Given the description of an element on the screen output the (x, y) to click on. 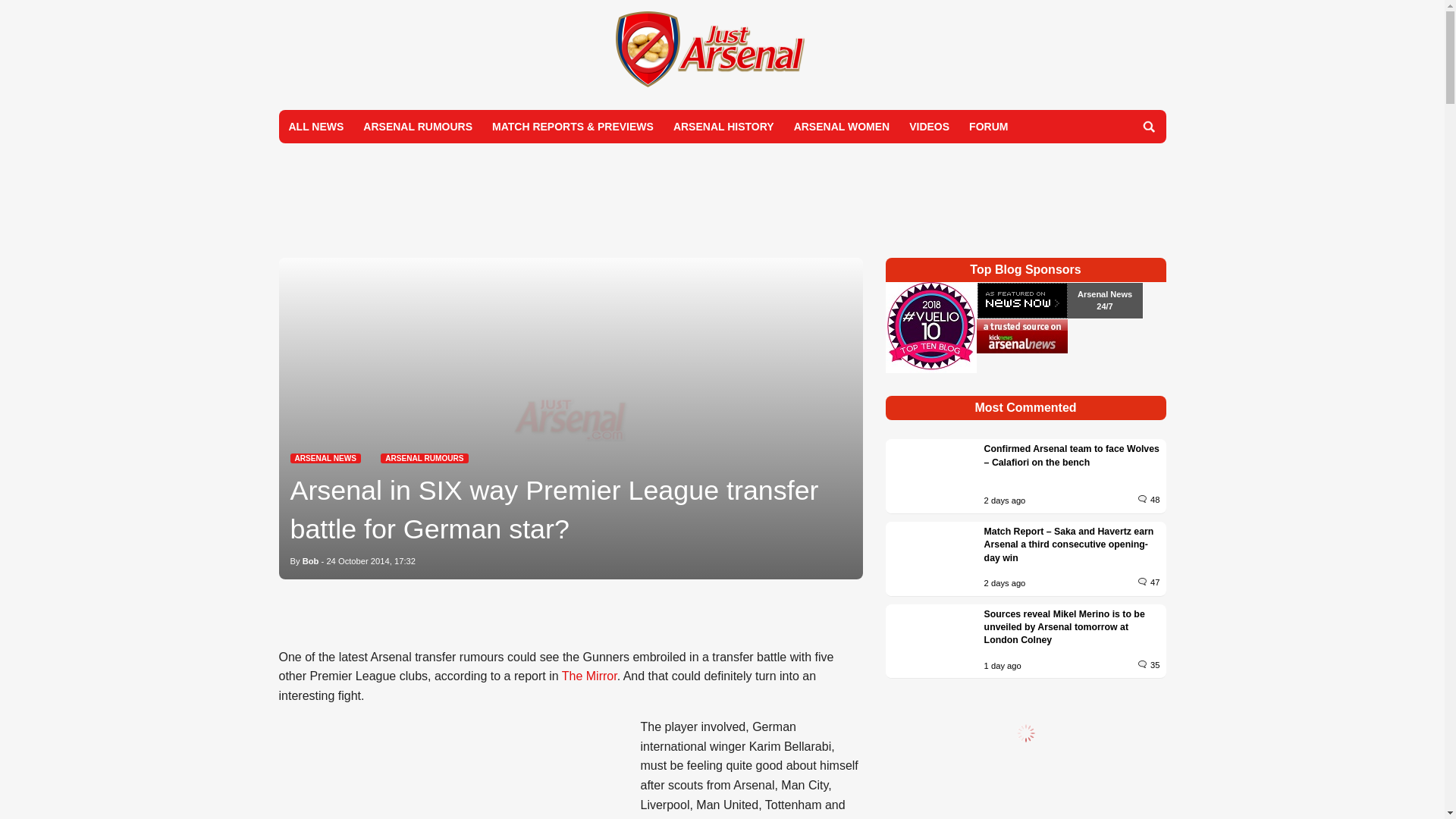
ARSENAL RUMOURS (417, 126)
Latest Arsenal News News (325, 458)
ARSENAL HISTORY (723, 126)
Latest Arsenal Rumours News (423, 458)
Search (1147, 126)
FORUM (988, 126)
ALL NEWS (316, 126)
Bob (310, 560)
ARSENAL RUMOURS (423, 458)
